Given the description of an element on the screen output the (x, y) to click on. 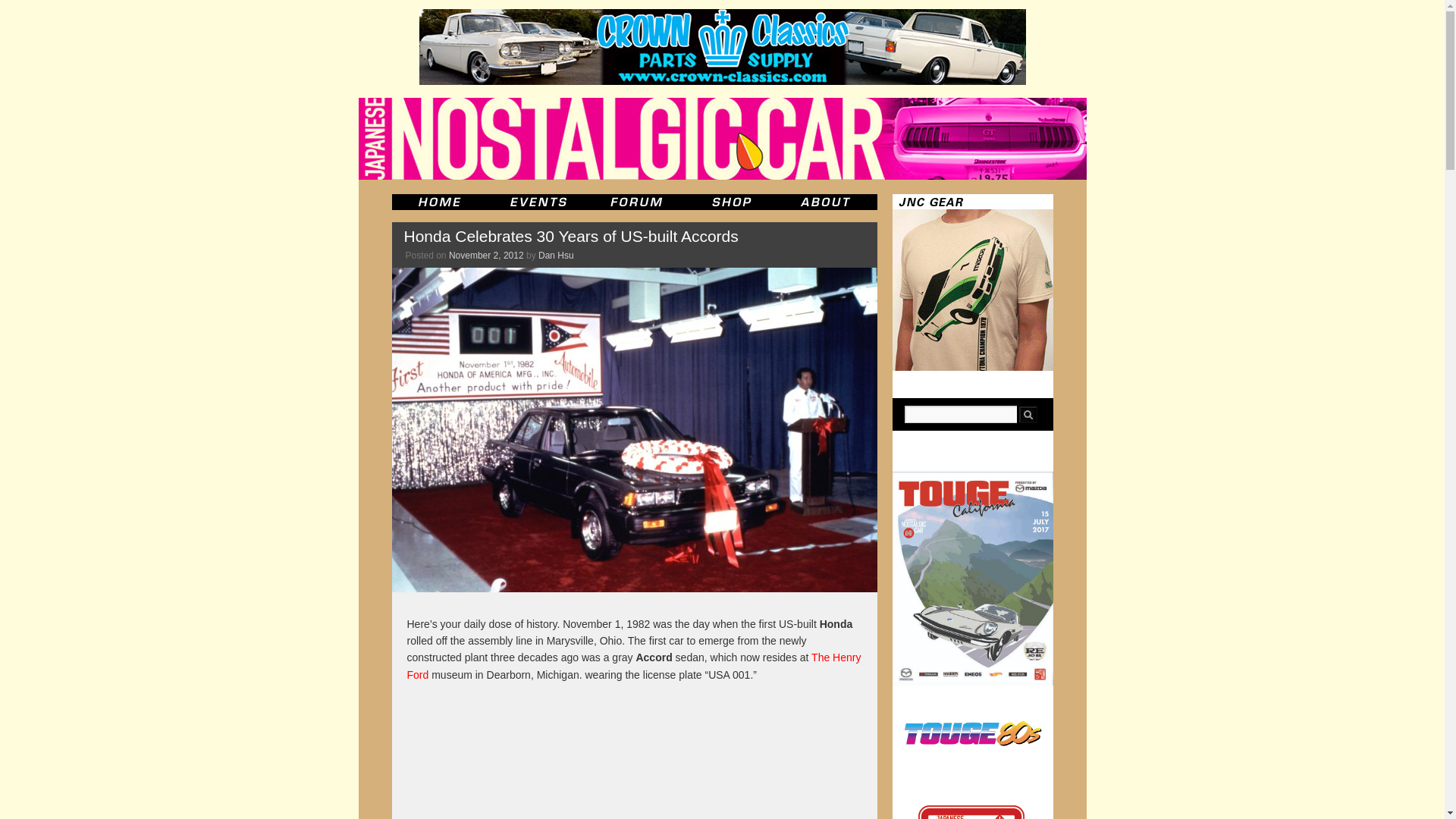
12:00 am (486, 255)
View all posts by Dan Hsu (555, 255)
November 2, 2012 (486, 255)
JNC Forum (638, 201)
Dan Hsu (555, 255)
Search (1027, 414)
About JNC (826, 201)
JNC Home (438, 201)
JNC Event Horizon (537, 201)
JNC Shop (731, 201)
The Henry Ford (633, 665)
